Given the description of an element on the screen output the (x, y) to click on. 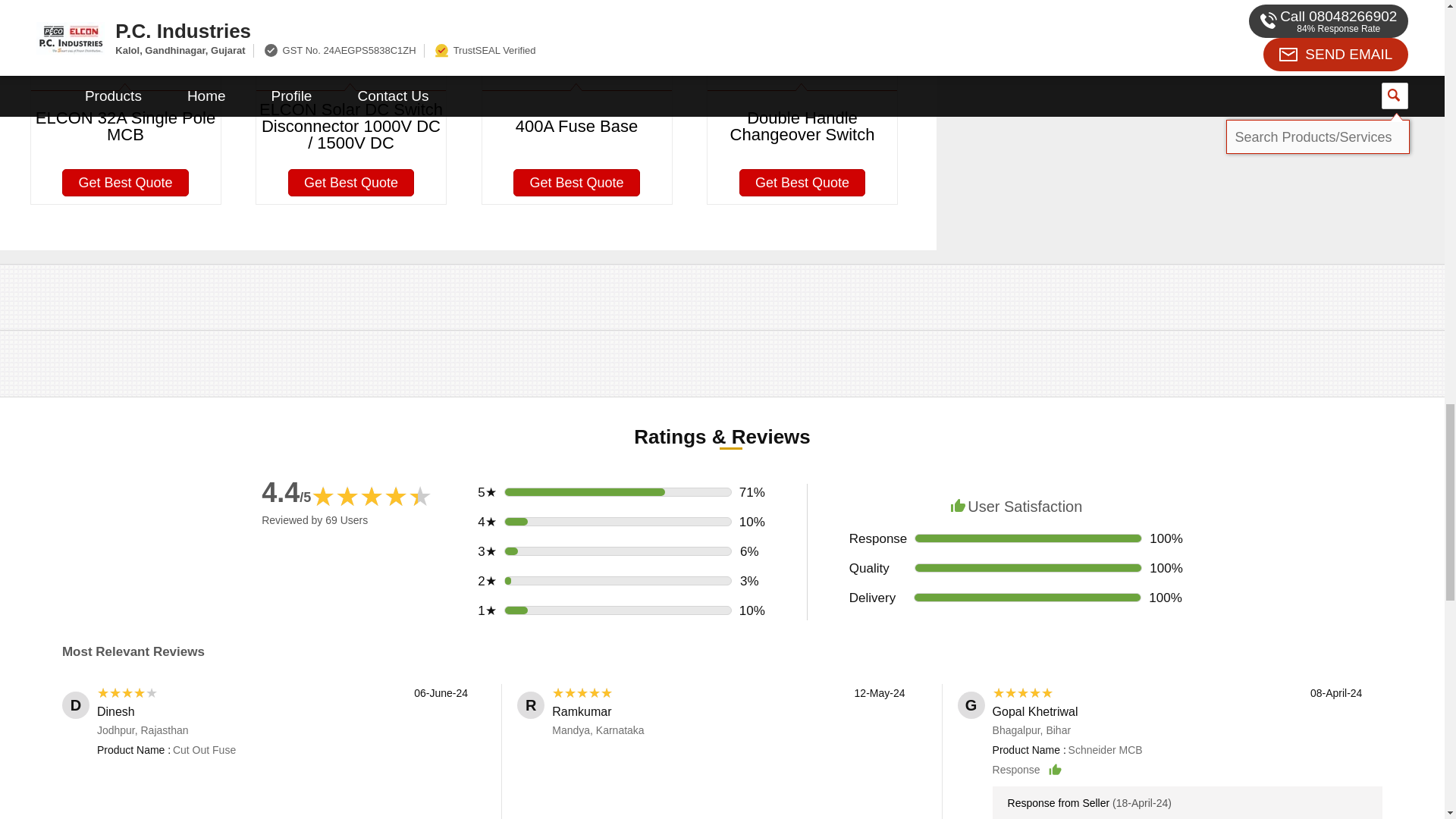
4.4 out of 5 Votes (286, 491)
